Given the description of an element on the screen output the (x, y) to click on. 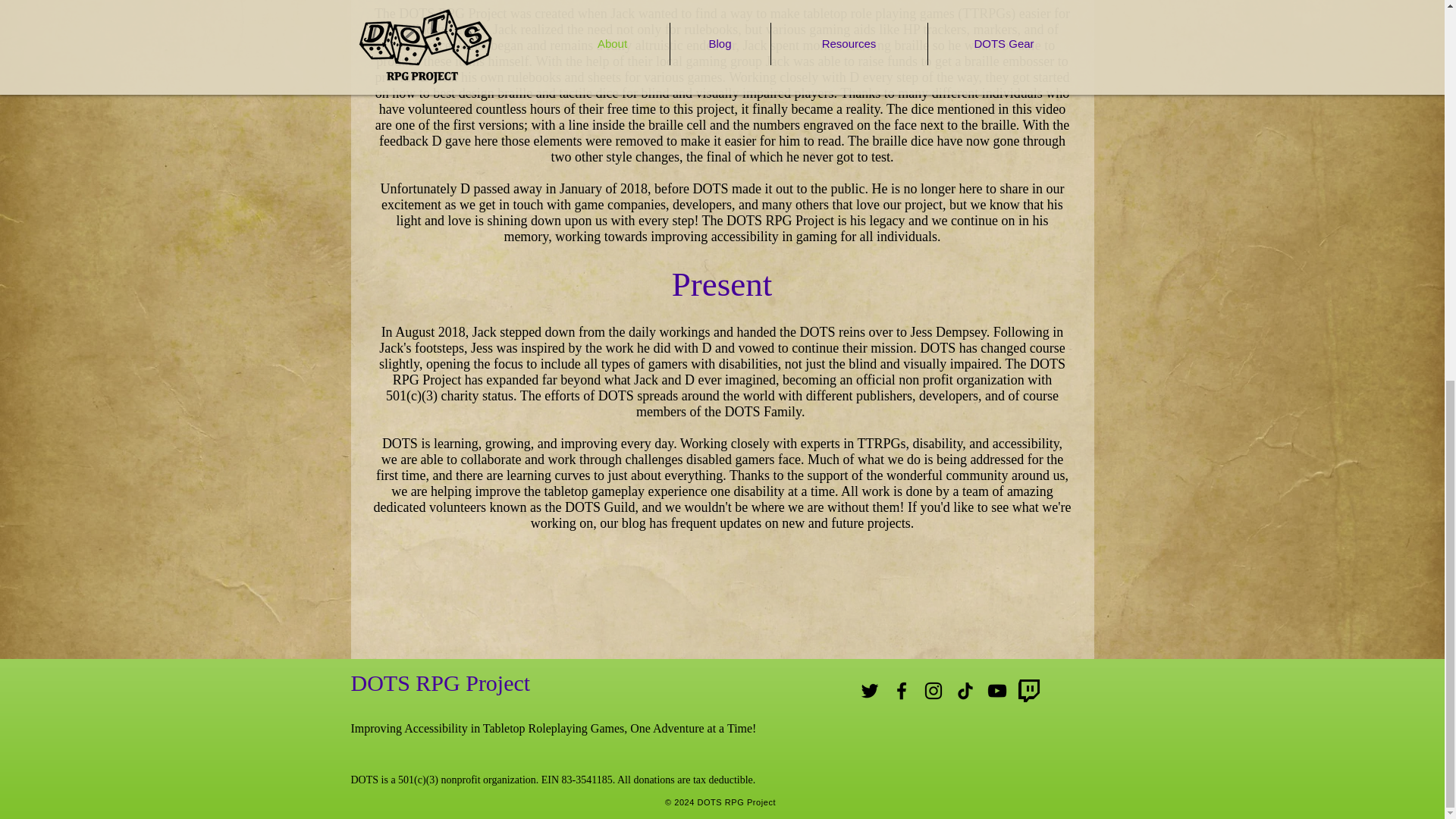
DOTS Family (763, 411)
blog (633, 522)
August 2018 (429, 331)
DOTS Guild (599, 507)
